Given the description of an element on the screen output the (x, y) to click on. 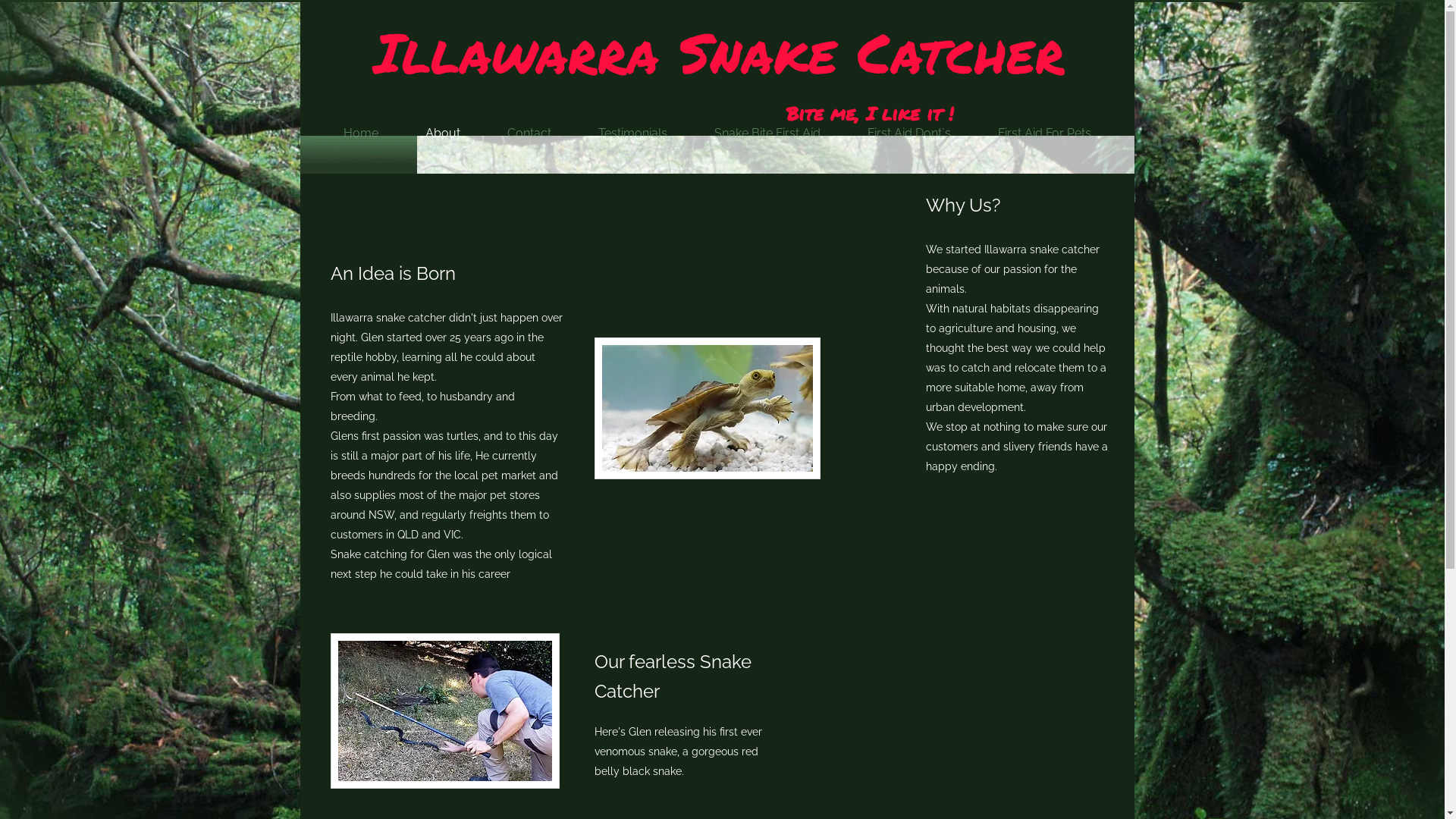
First Aid Dont`s Element type: text (908, 133)
Home Element type: text (360, 133)
Testimonials Element type: text (632, 133)
Snake Bite First Aid Element type: text (766, 133)
First Aid For Pets Element type: text (1043, 133)
Contact Element type: text (528, 133)
About Element type: text (442, 133)
